Given the description of an element on the screen output the (x, y) to click on. 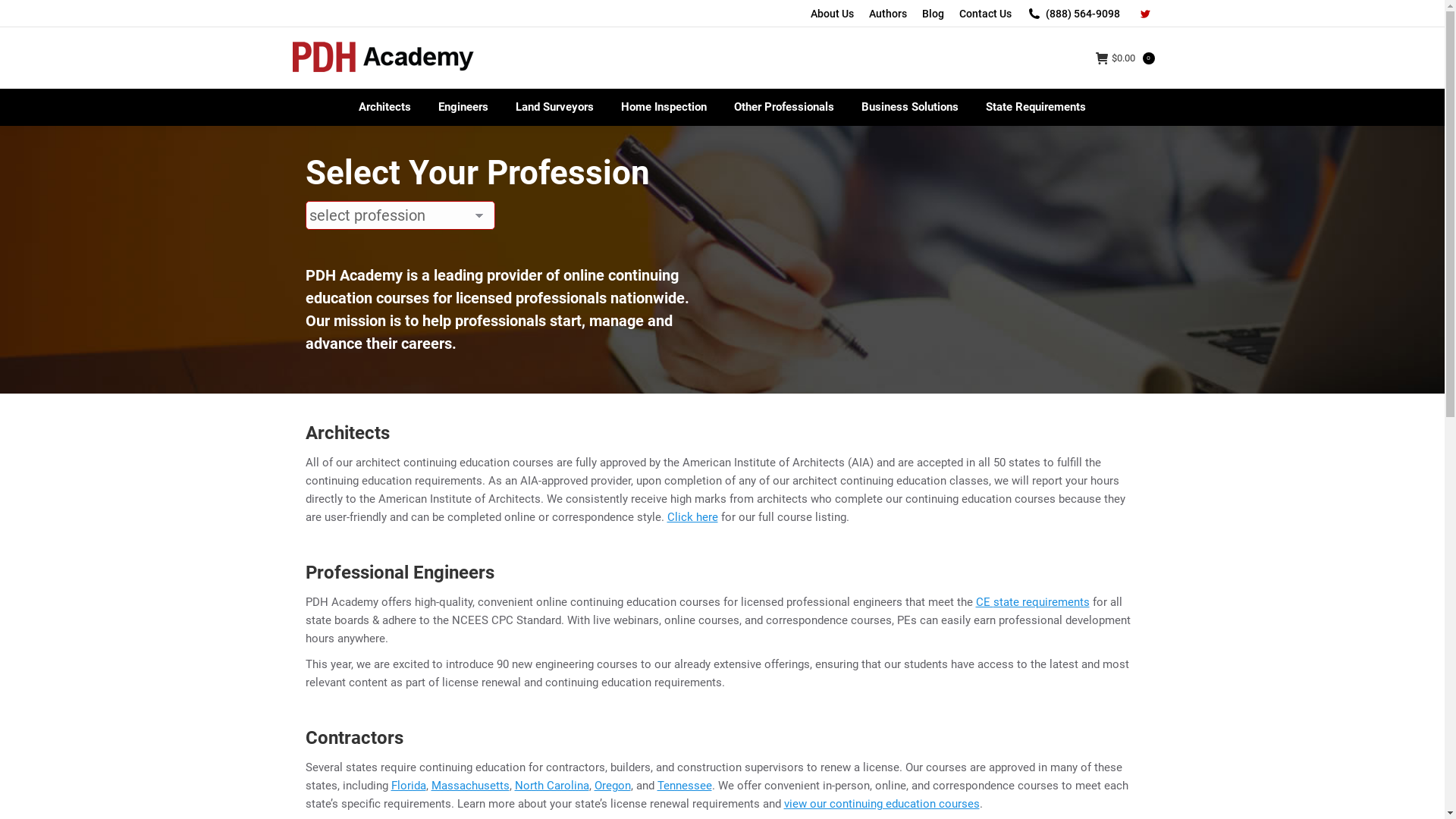
Blog Element type: text (933, 13)
Architects Element type: text (384, 106)
Engineers Element type: text (463, 106)
Other Professionals Element type: text (783, 106)
Massachusetts Element type: text (469, 785)
CE state requirements Element type: text (1031, 601)
State Requirements Element type: text (1035, 106)
Oregon Element type: text (612, 785)
Home Inspection Element type: text (663, 106)
$0.00
0 Element type: text (1124, 57)
Business Solutions Element type: text (909, 106)
Tennessee Element type: text (683, 785)
North Carolina Element type: text (551, 785)
Click here Element type: text (692, 517)
About Us Element type: text (831, 13)
view our continuing education courses Element type: text (881, 803)
Twitter page opens in new window Element type: text (1144, 13)
Contact Us Element type: text (984, 13)
Florida Element type: text (408, 785)
Land Surveyors Element type: text (554, 106)
Authors Element type: text (887, 13)
